Given the description of an element on the screen output the (x, y) to click on. 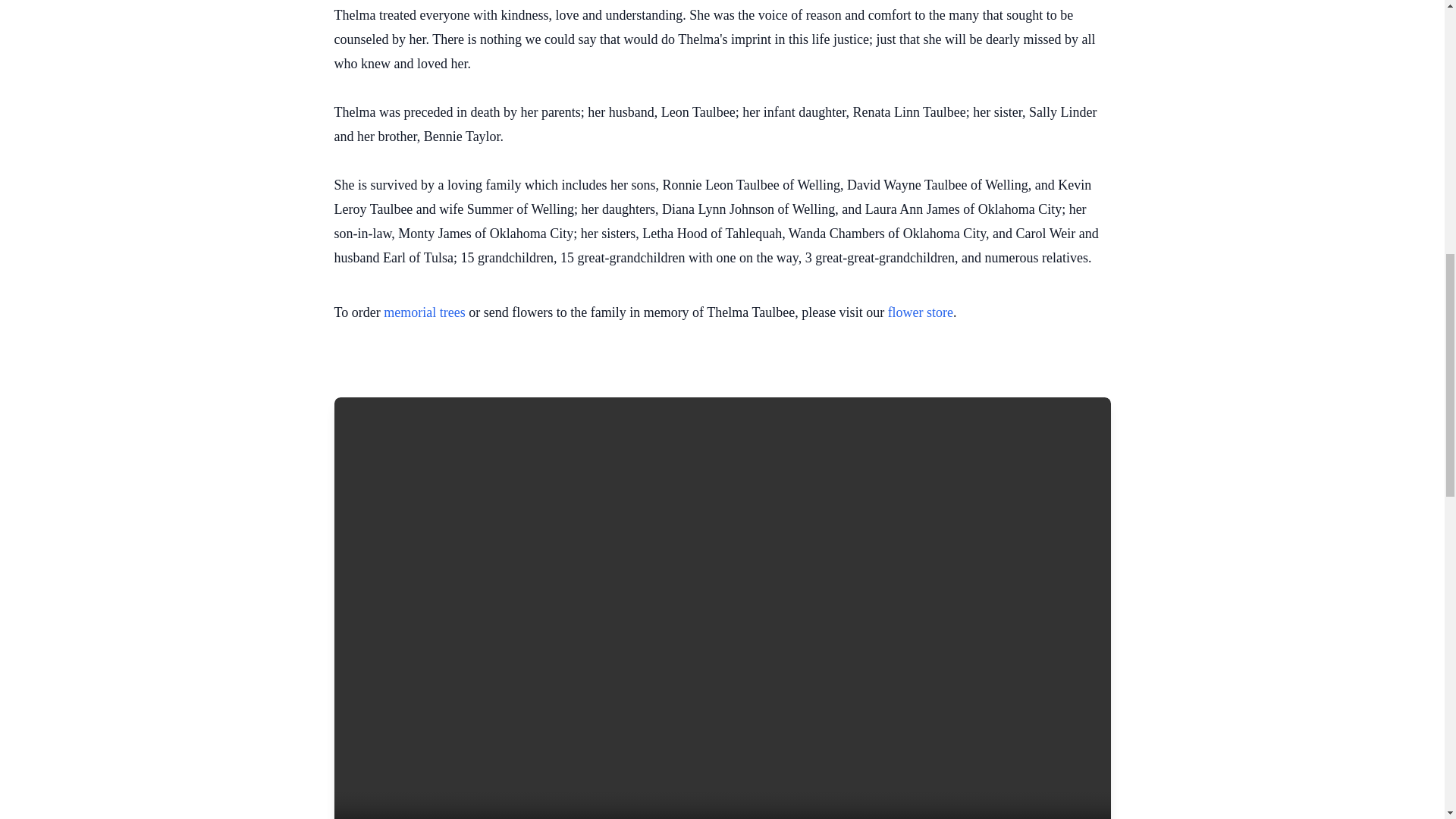
flower store (920, 312)
memorial trees (424, 312)
